Given the description of an element on the screen output the (x, y) to click on. 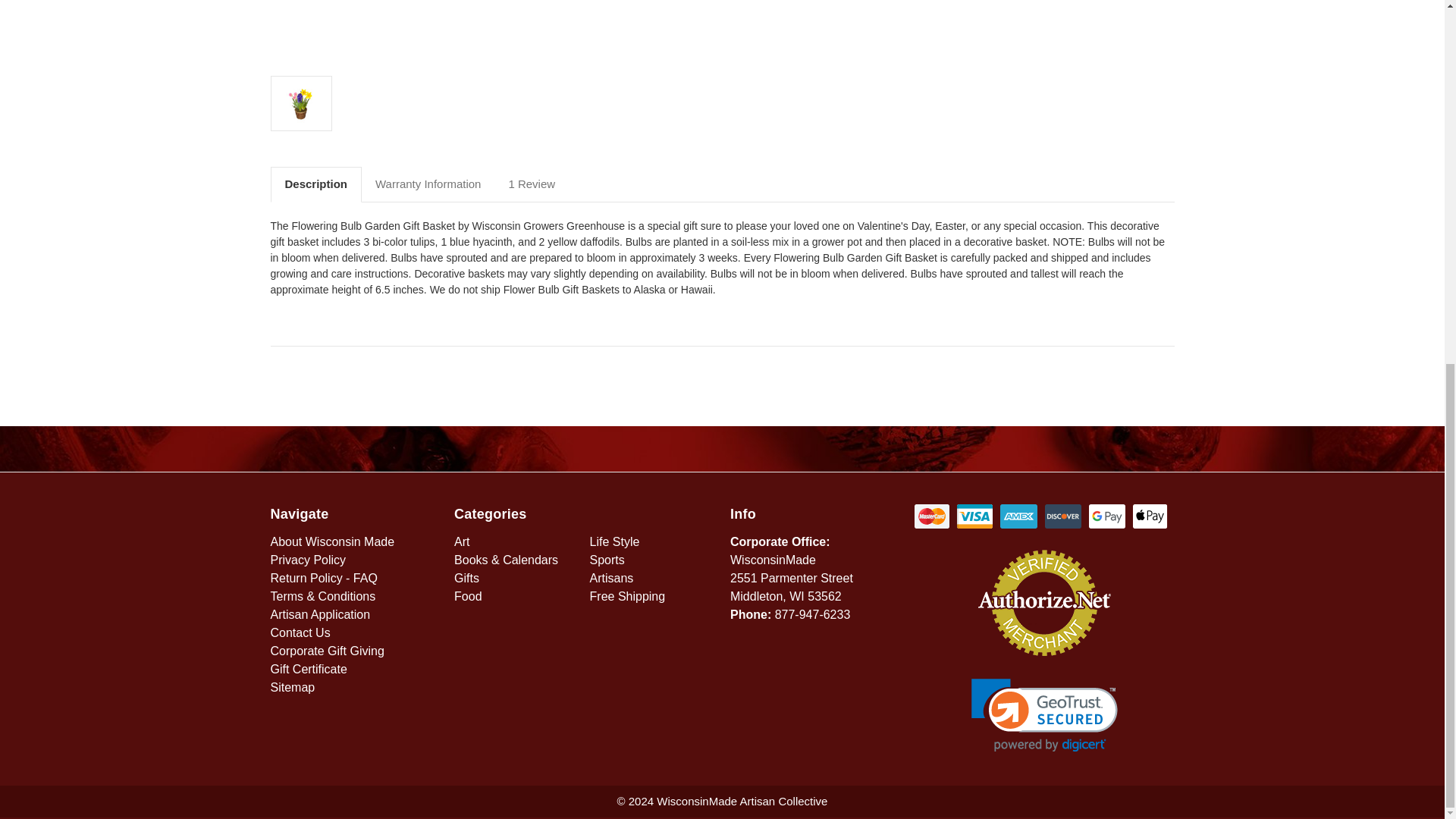
Flowering Bulb Garden Gift Basket (301, 102)
Flowering Bulb Garden Gift Basket (491, 31)
